Given the description of an element on the screen output the (x, y) to click on. 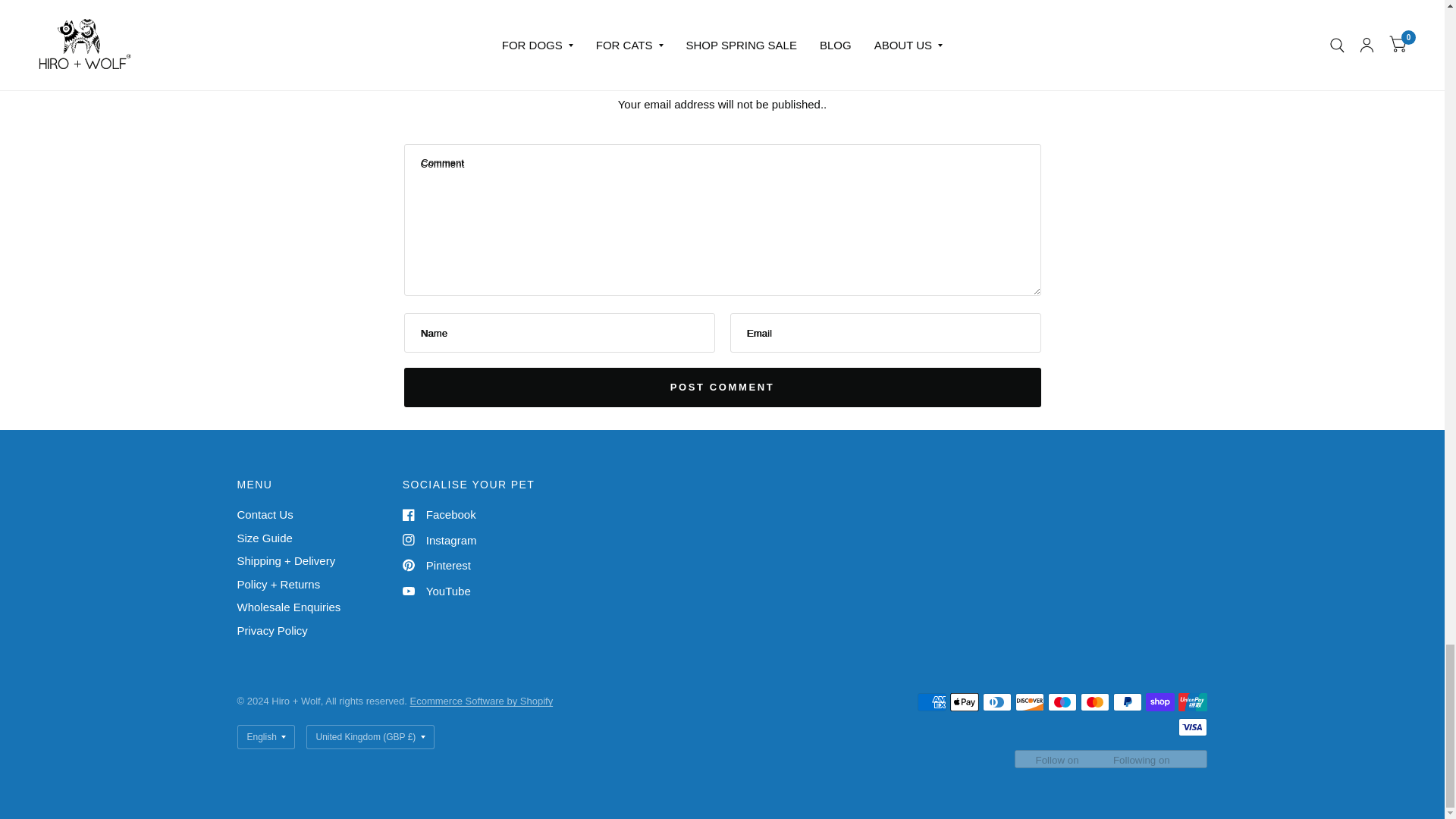
Post comment (722, 387)
